Given the description of an element on the screen output the (x, y) to click on. 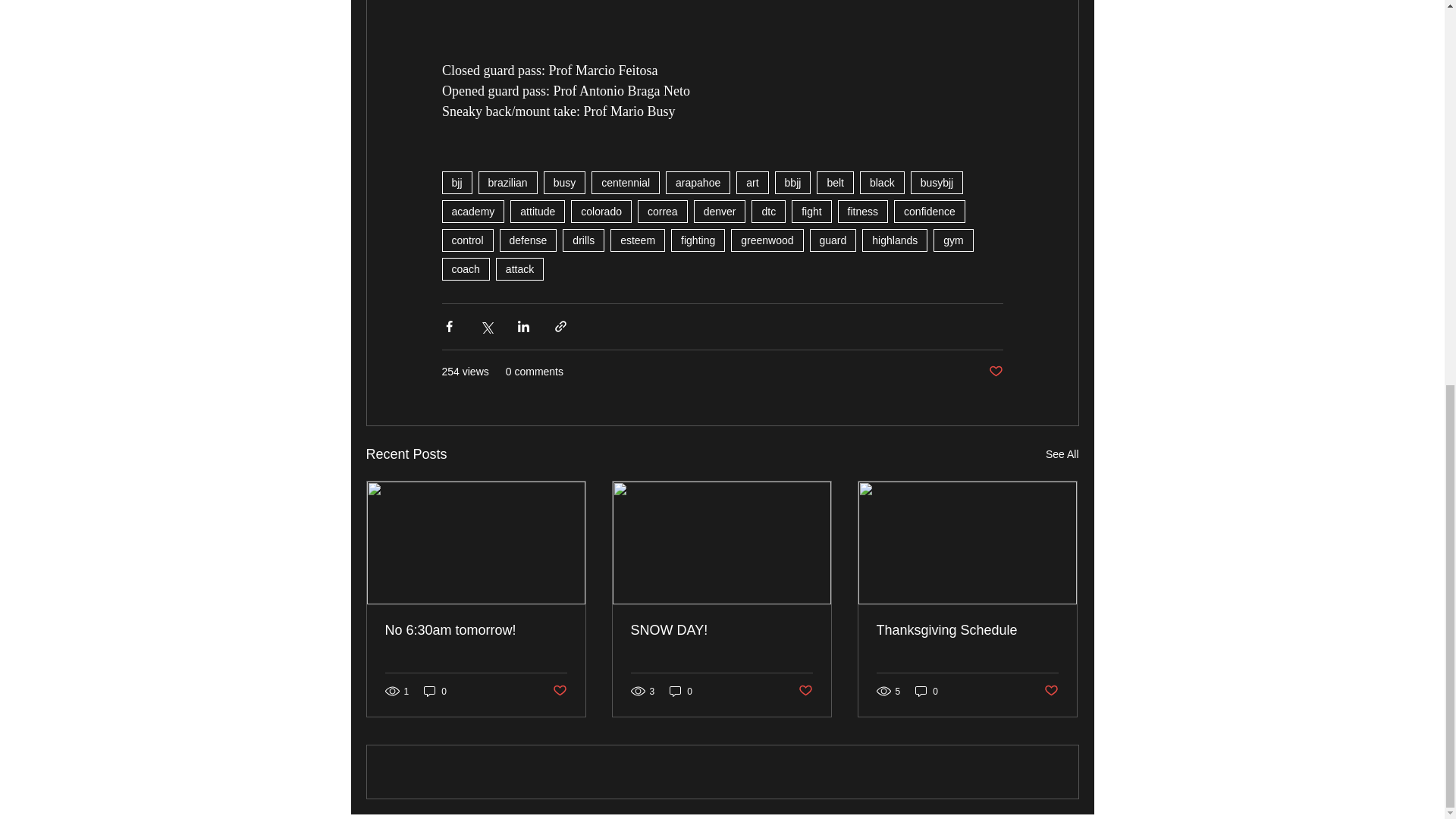
centennial (625, 182)
art (752, 182)
arapahoe (697, 182)
academy (472, 210)
brazilian (508, 182)
belt (834, 182)
busybjj (937, 182)
busy (564, 182)
colorado (600, 210)
black (882, 182)
attitude (537, 210)
bjj (456, 182)
bbjj (792, 182)
